Given the description of an element on the screen output the (x, y) to click on. 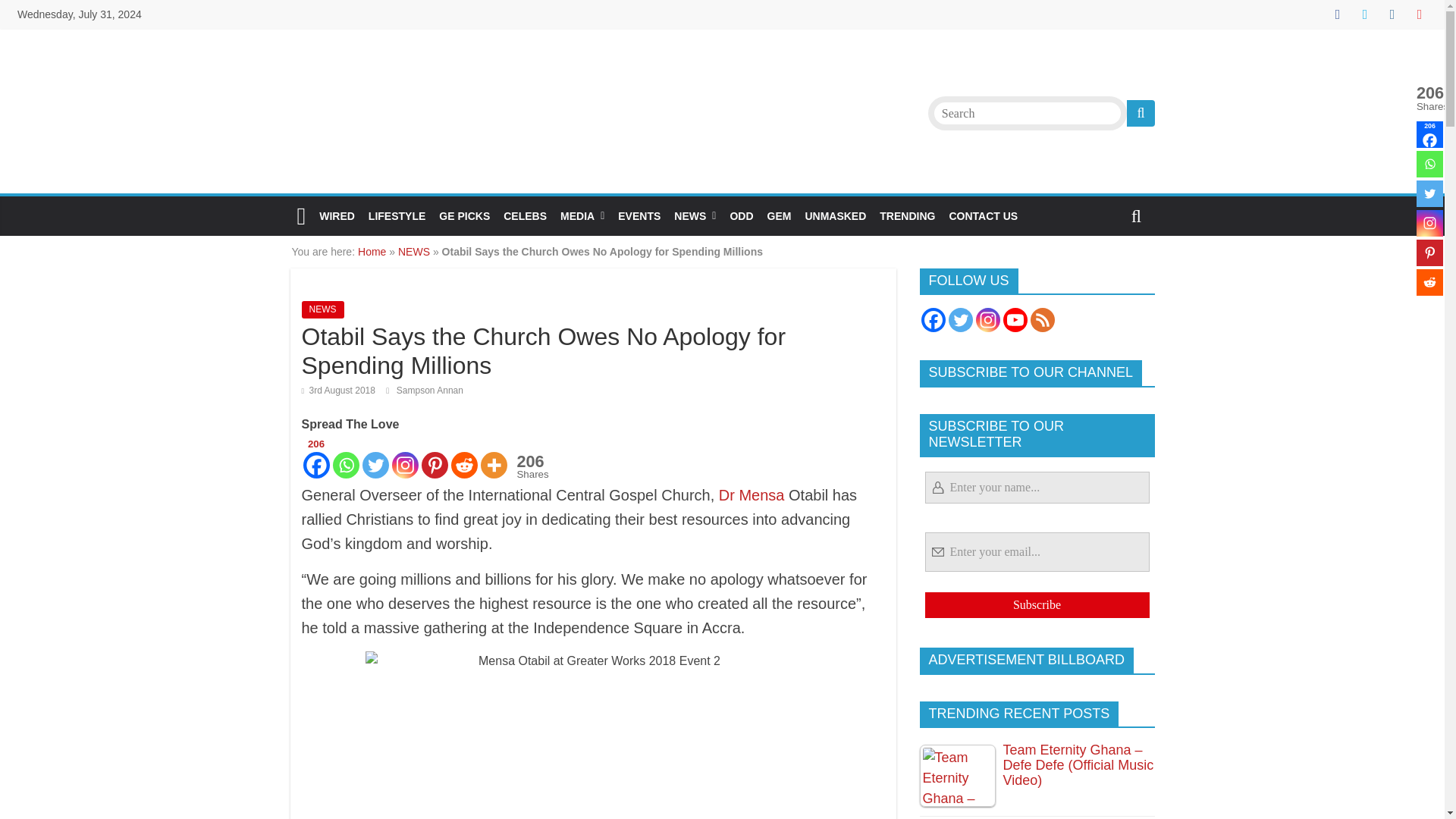
GE PICKS (464, 216)
WIRED (337, 216)
CELEBS (524, 216)
Facebook (1429, 134)
EVENTS (638, 216)
Instagram (1429, 222)
Dr Mensa (751, 494)
Total Shares (1429, 98)
NEWS (694, 216)
2:39 pm (338, 389)
Sampson Annan (429, 389)
Sampson Annan (429, 389)
3rd August 2018 (338, 389)
Home (371, 251)
ODD (741, 216)
